Given the description of an element on the screen output the (x, y) to click on. 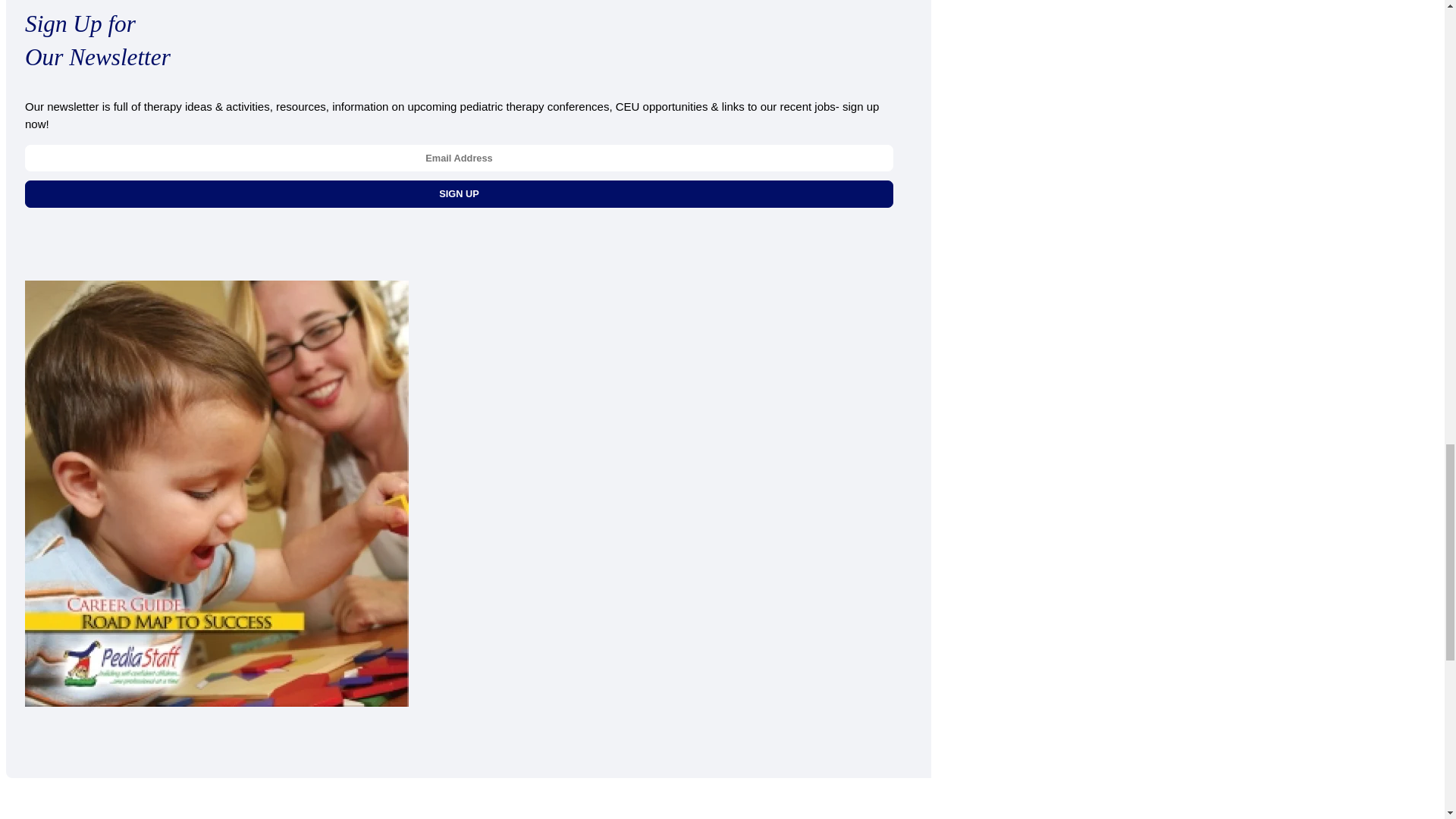
SIGN UP (458, 193)
